Given the description of an element on the screen output the (x, y) to click on. 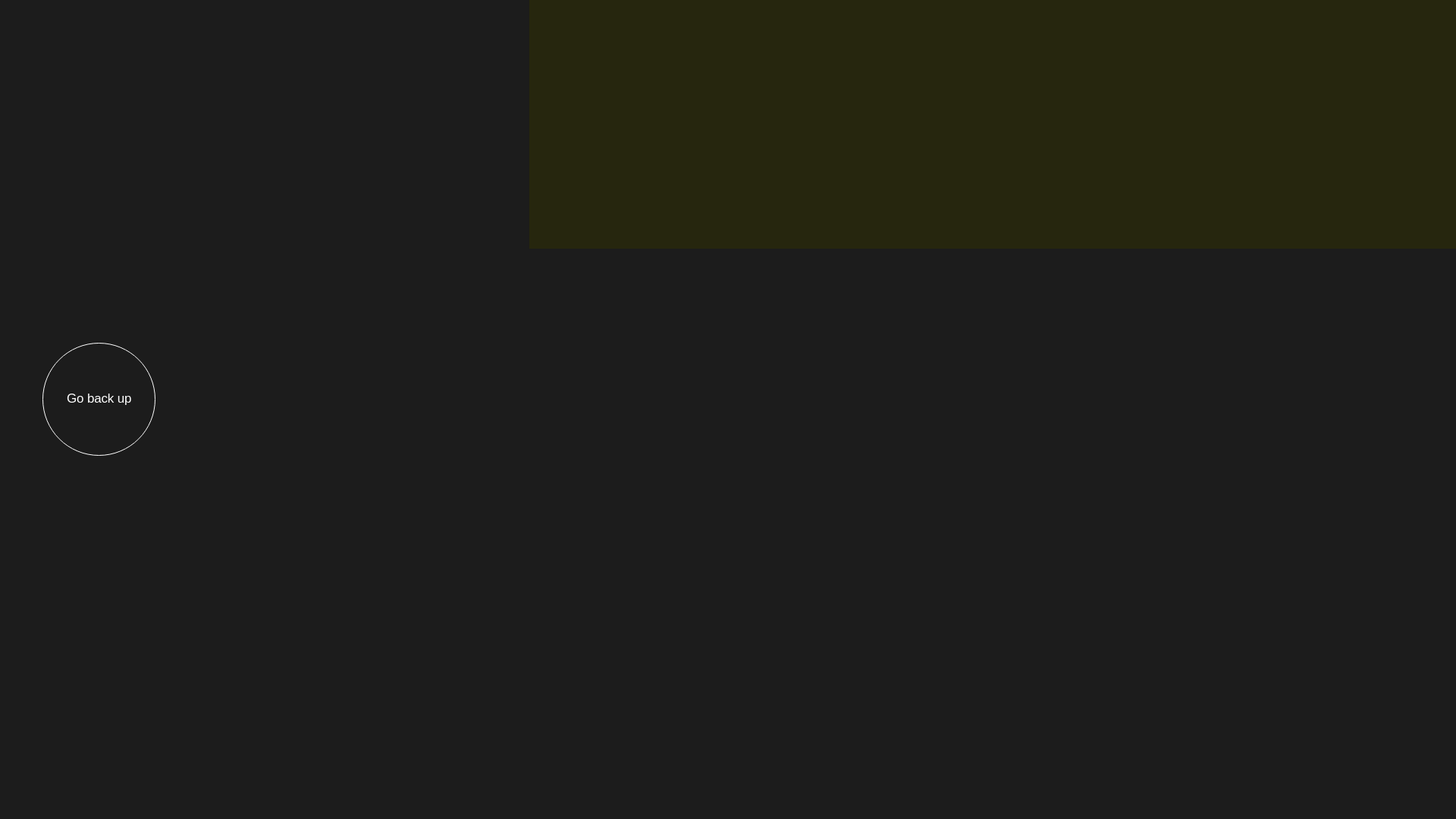
Subscribe (1309, 610)
